Given the description of an element on the screen output the (x, y) to click on. 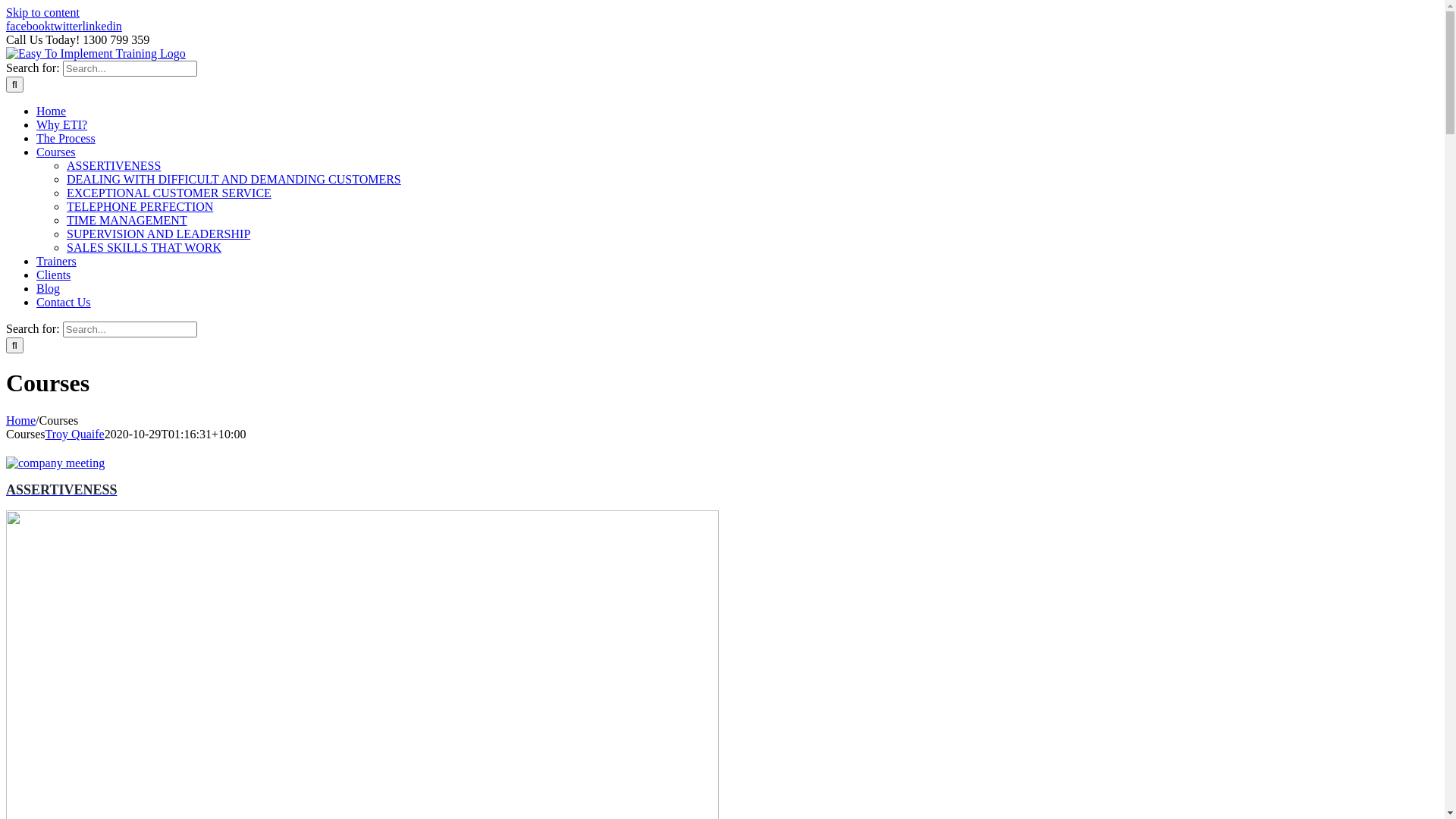
DEALING WITH DIFFICULT AND DEMANDING CUSTOMERS Element type: text (233, 178)
Home Element type: text (50, 110)
SUPERVISION AND LEADERSHIP Element type: text (158, 233)
TELEPHONE PERFECTION Element type: text (139, 206)
Blog Element type: text (47, 288)
ASSERTIVENESS Element type: text (113, 165)
Trainers Element type: text (56, 260)
linkedin Element type: text (101, 25)
Courses Element type: text (55, 151)
TIME MANAGEMENT Element type: text (126, 219)
EXCEPTIONAL CUSTOMER SERVICE Element type: text (168, 192)
Why ETI? Element type: text (61, 124)
The Process Element type: text (65, 137)
Contact Us Element type: text (63, 301)
twitter Element type: text (66, 25)
Skip to content Element type: text (42, 12)
facebook Element type: text (28, 25)
Clients Element type: text (53, 274)
Troy Quaife Element type: text (74, 433)
Home Element type: text (20, 420)
ASSERTIVENESS Element type: text (722, 477)
SALES SKILLS THAT WORK Element type: text (143, 247)
